Given the description of an element on the screen output the (x, y) to click on. 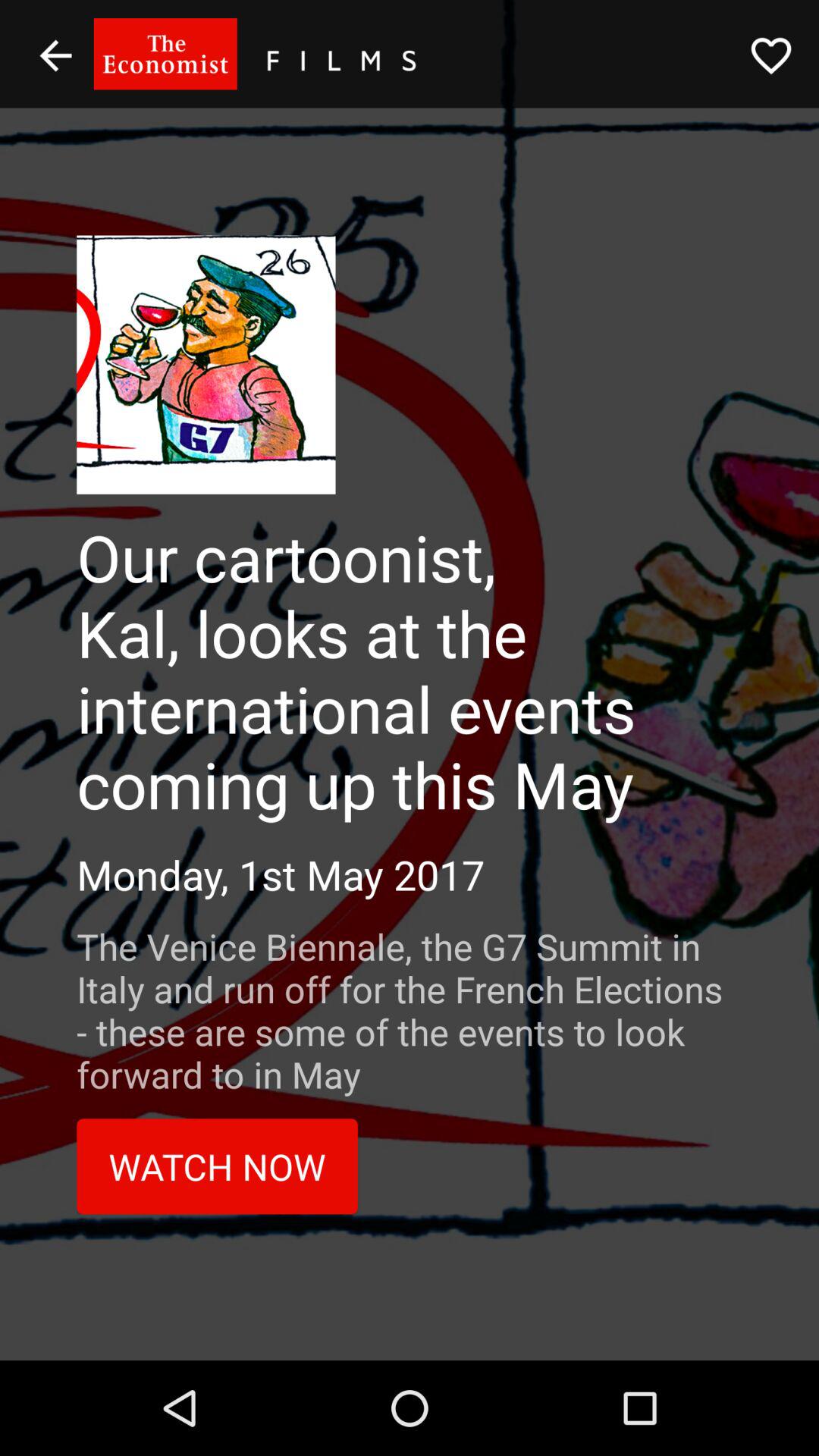
select the icon at the top right corner (771, 55)
